Given the description of an element on the screen output the (x, y) to click on. 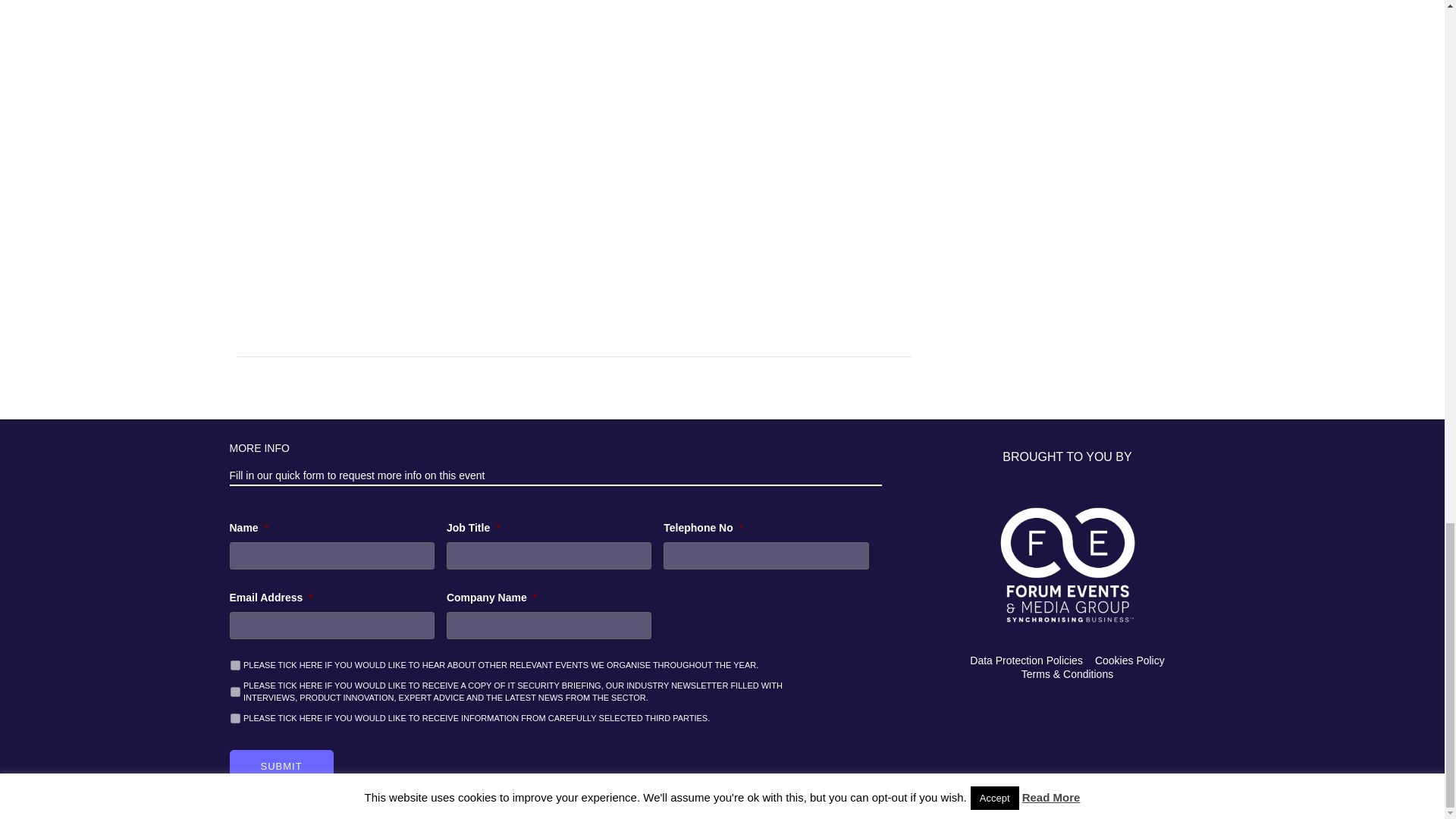
Submit (280, 766)
